Given the description of an element on the screen output the (x, y) to click on. 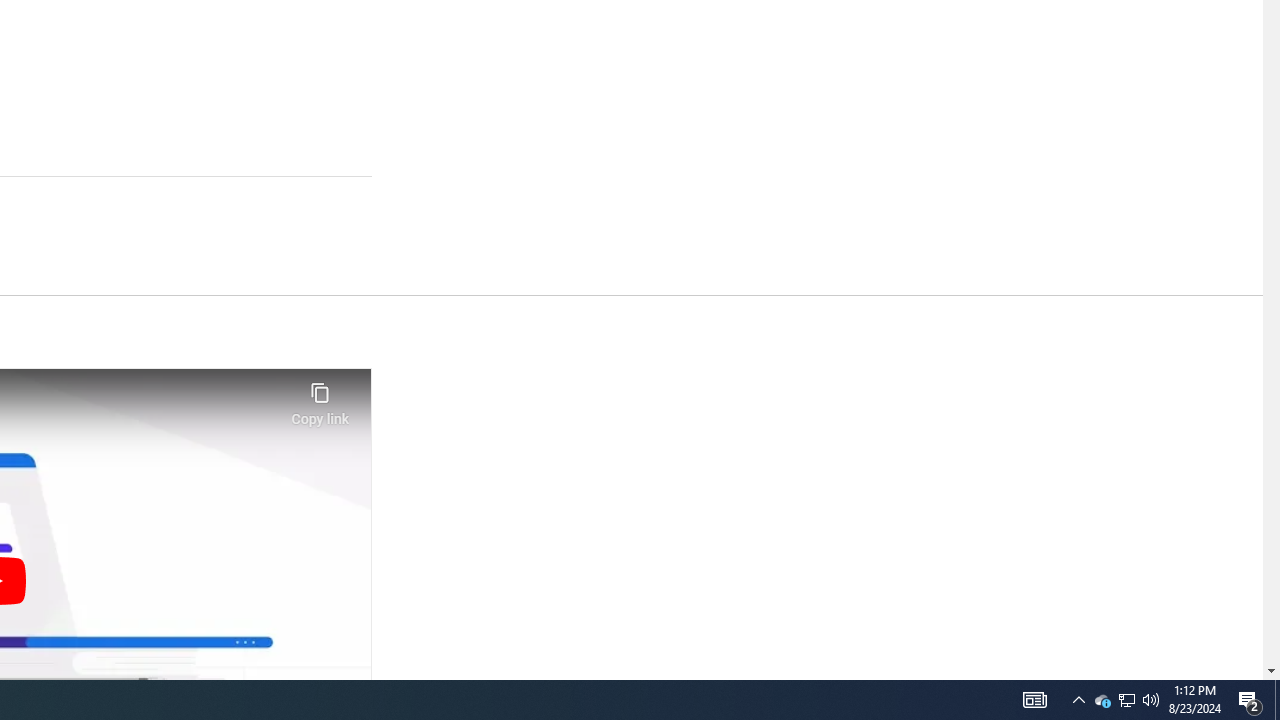
Copy link (319, 398)
